Given the description of an element on the screen output the (x, y) to click on. 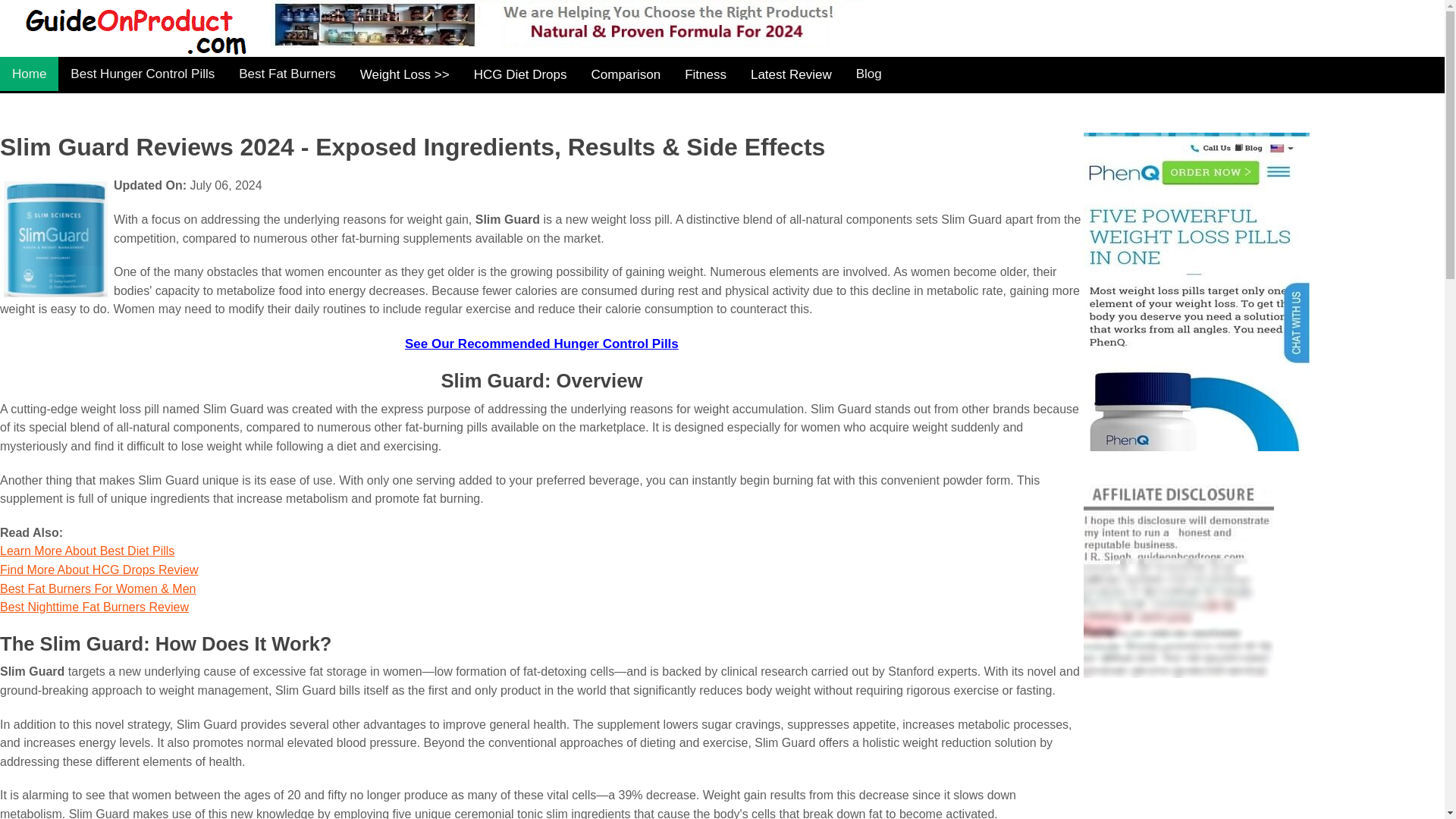
Fitness (705, 74)
HCG Diet Drops (520, 74)
Home (29, 73)
Best Fat Burners (287, 73)
Comparison (625, 74)
Best Hunger Control Pills (142, 73)
Latest Review (791, 74)
